Given the description of an element on the screen output the (x, y) to click on. 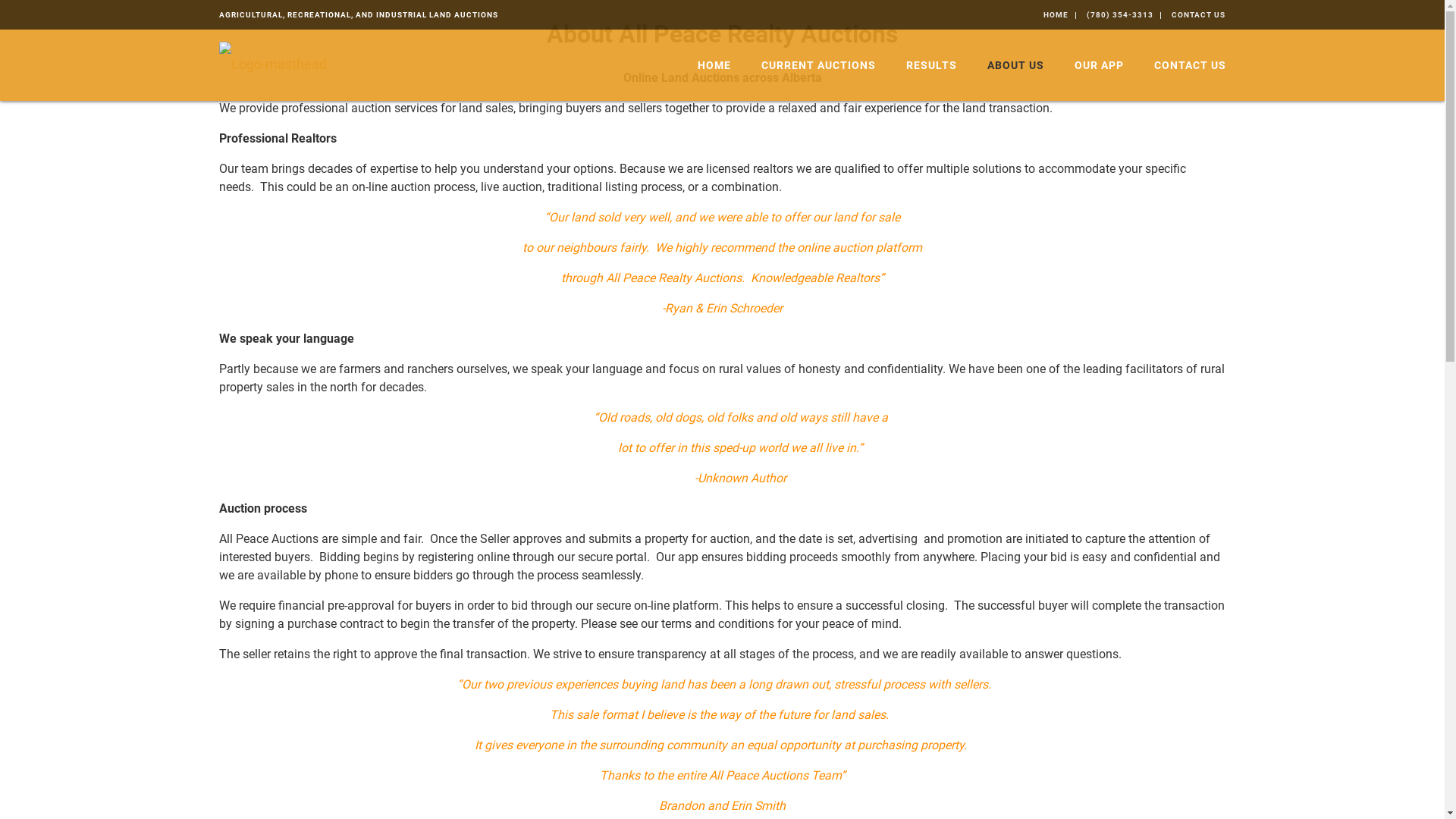
CONTACT US Element type: text (1198, 14)
CURRENT AUCTIONS Element type: text (818, 64)
CONTACT US Element type: text (1182, 64)
ABOUT US Element type: text (1015, 64)
HOME Element type: text (1055, 14)
HOME Element type: text (714, 64)
All Peace Realty Auctions Element type: hover (272, 63)
OUR APP Element type: text (1098, 64)
(780) 354-3313 Element type: text (1119, 14)
RESULTS Element type: text (930, 64)
